Given the description of an element on the screen output the (x, y) to click on. 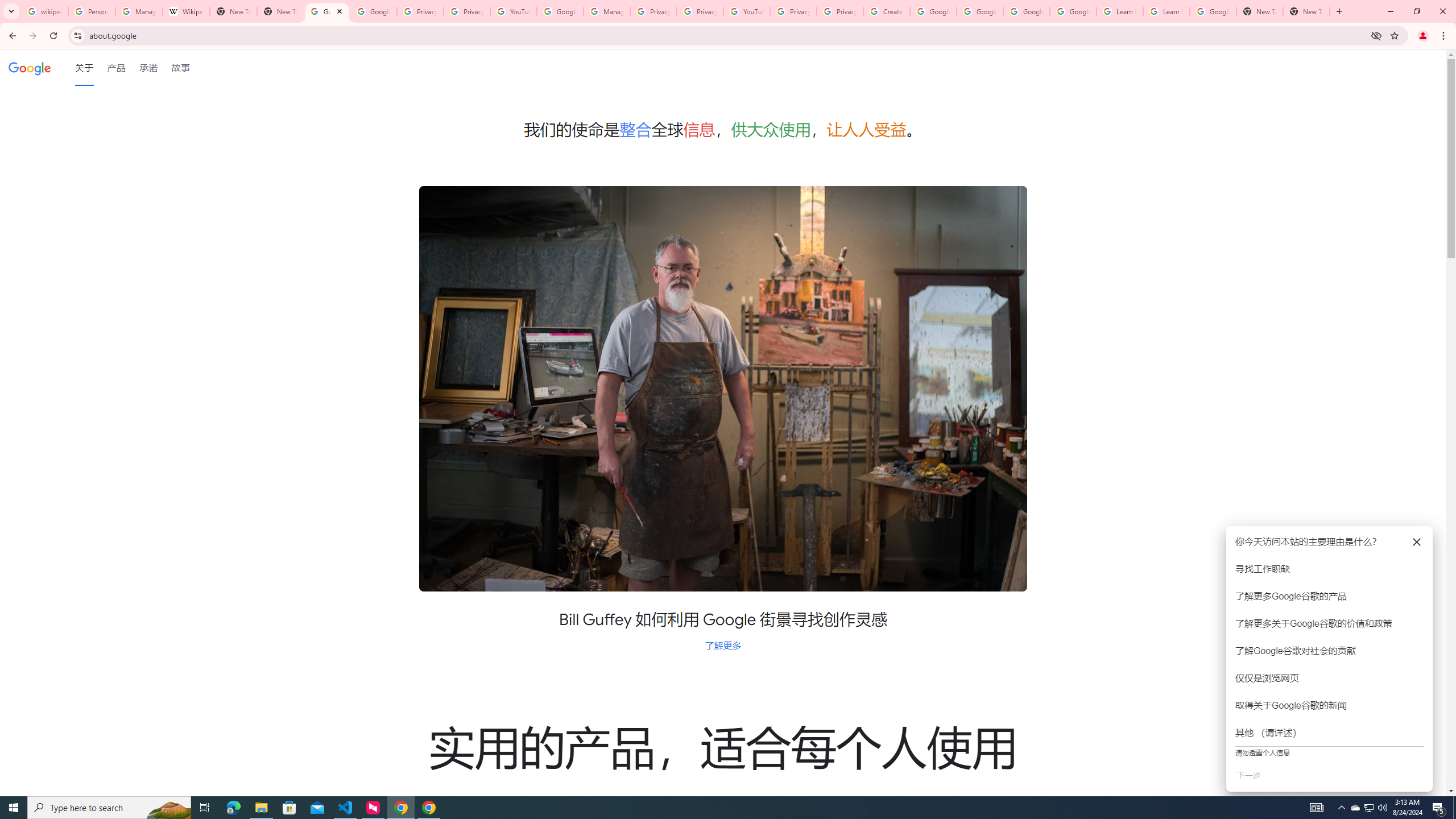
Manage your Location History - Google Search Help (138, 11)
New Tab (1306, 11)
